Given the description of an element on the screen output the (x, y) to click on. 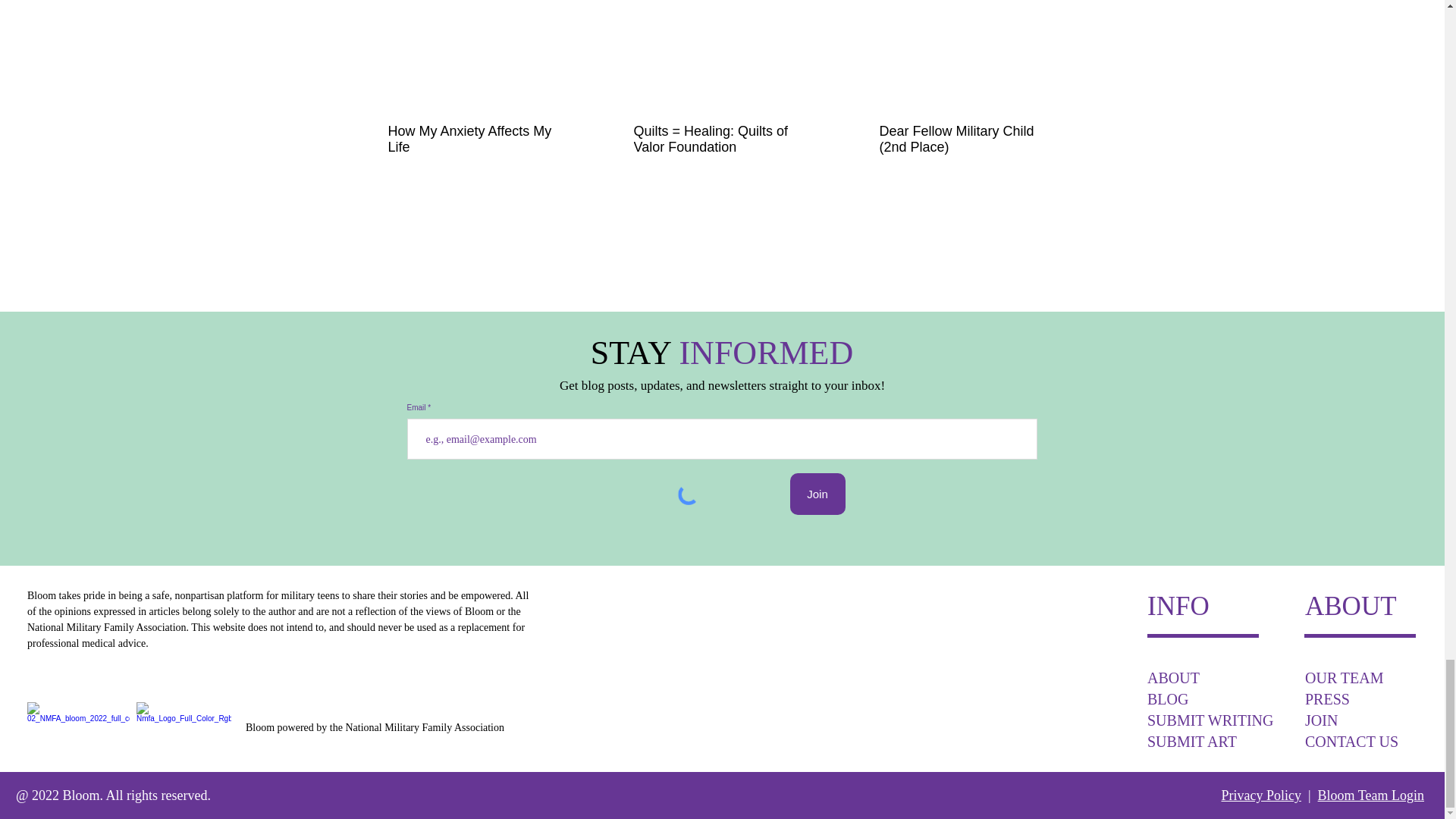
How My Anxiety Affects My Life (476, 139)
